Given the description of an element on the screen output the (x, y) to click on. 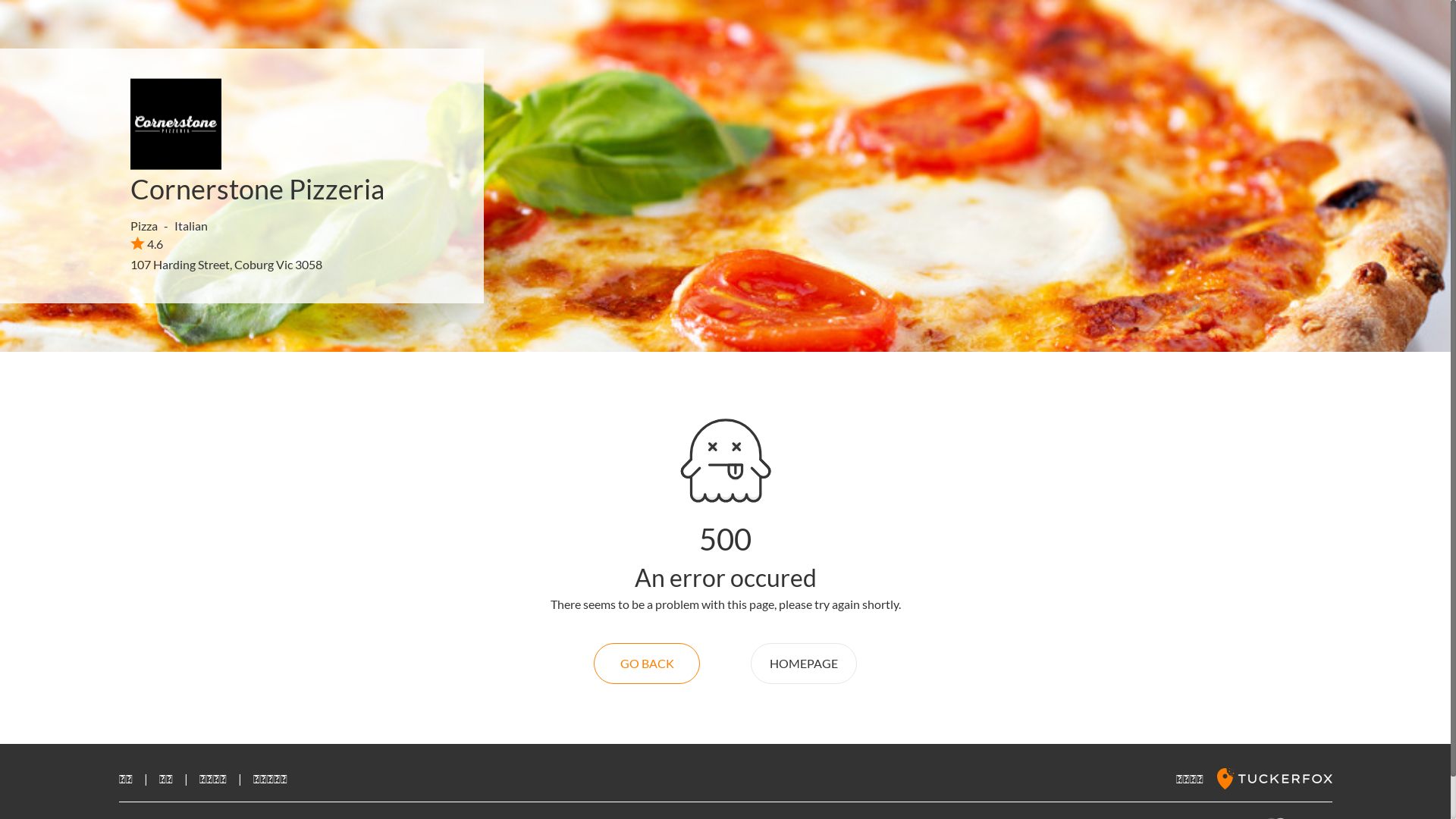
GO BACK Element type: text (646, 663)
4.6 Element type: text (146, 243)
HOMEPAGE Element type: text (803, 663)
Cornerstone Pizzeria Element type: text (257, 188)
